Given the description of an element on the screen output the (x, y) to click on. 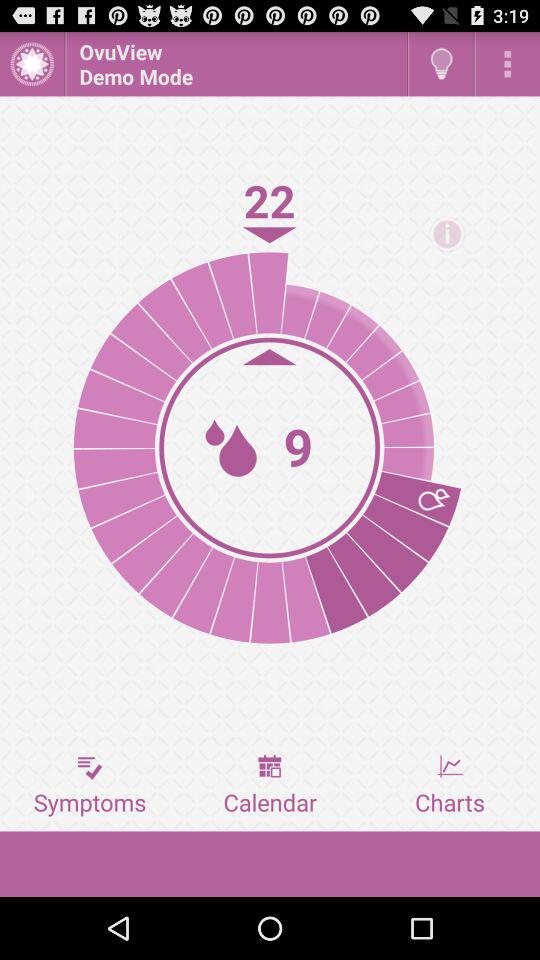
choose the button below the symptoms button (270, 863)
